Given the description of an element on the screen output the (x, y) to click on. 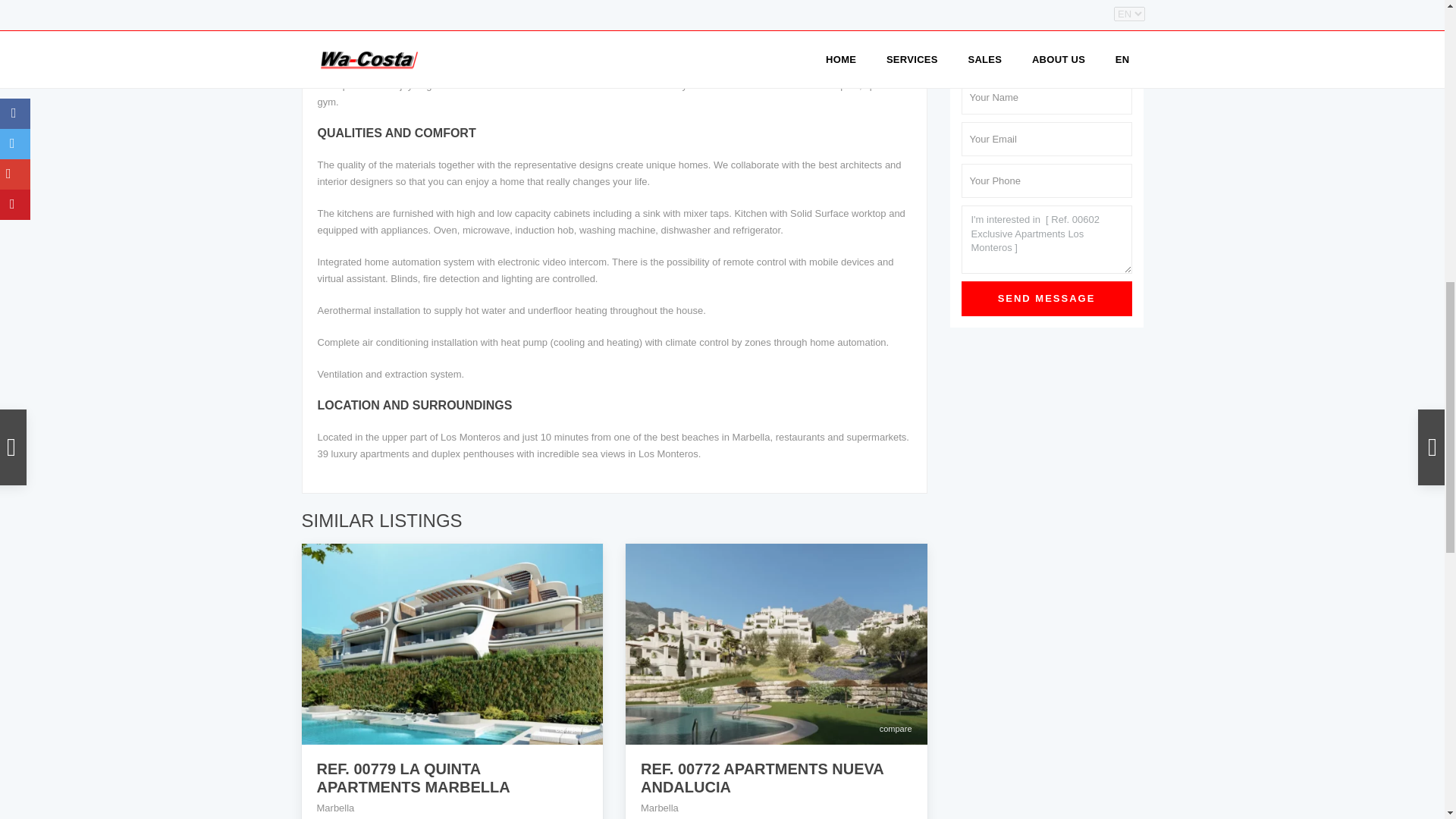
Send Message (1046, 298)
